Given the description of an element on the screen output the (x, y) to click on. 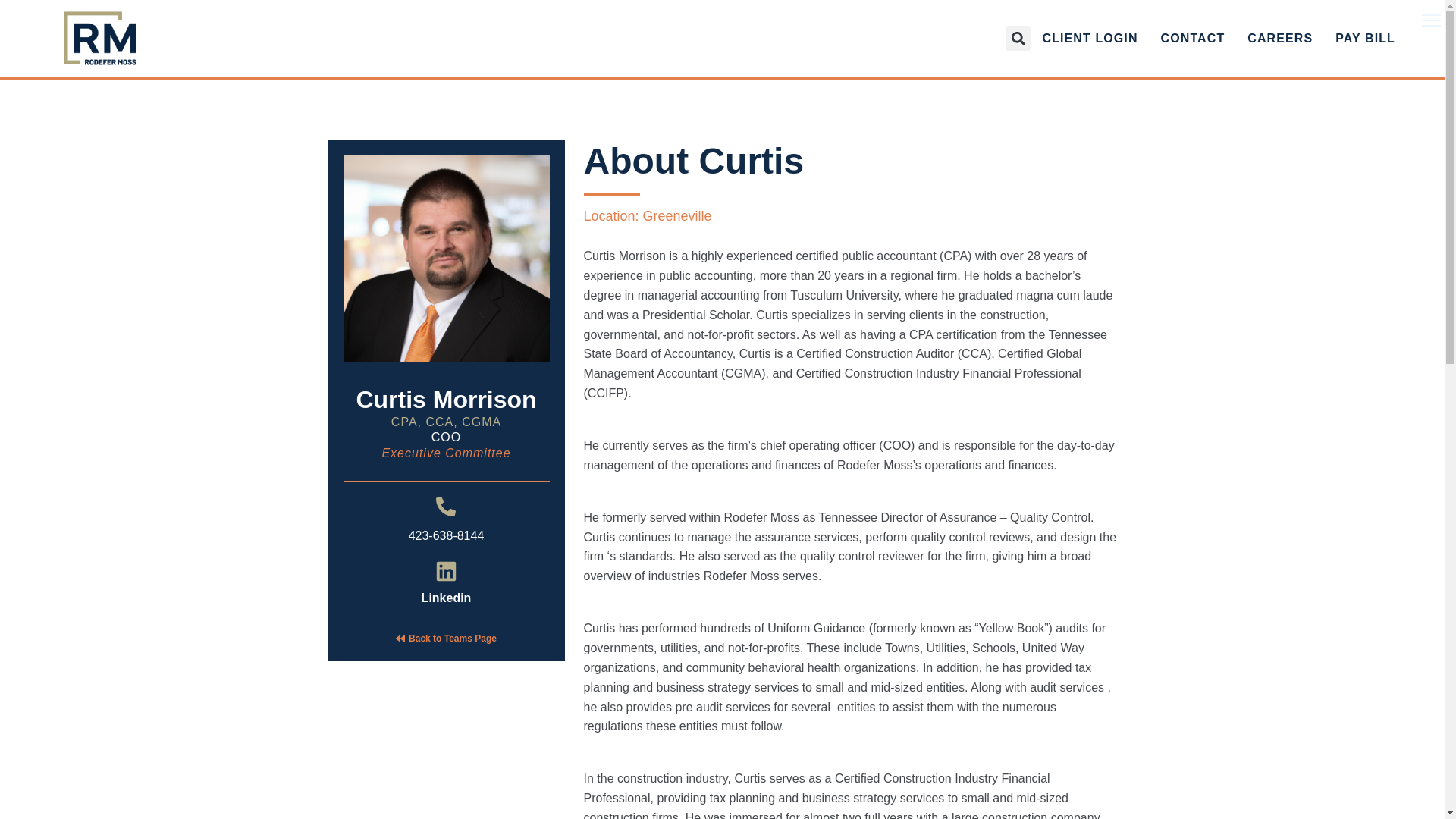
CONTACT (1193, 38)
Back to Teams Page (452, 638)
PAY BILL (1364, 38)
CLIENT LOGIN (1089, 38)
Linkedin (446, 597)
CAREERS (1279, 38)
